Given the description of an element on the screen output the (x, y) to click on. 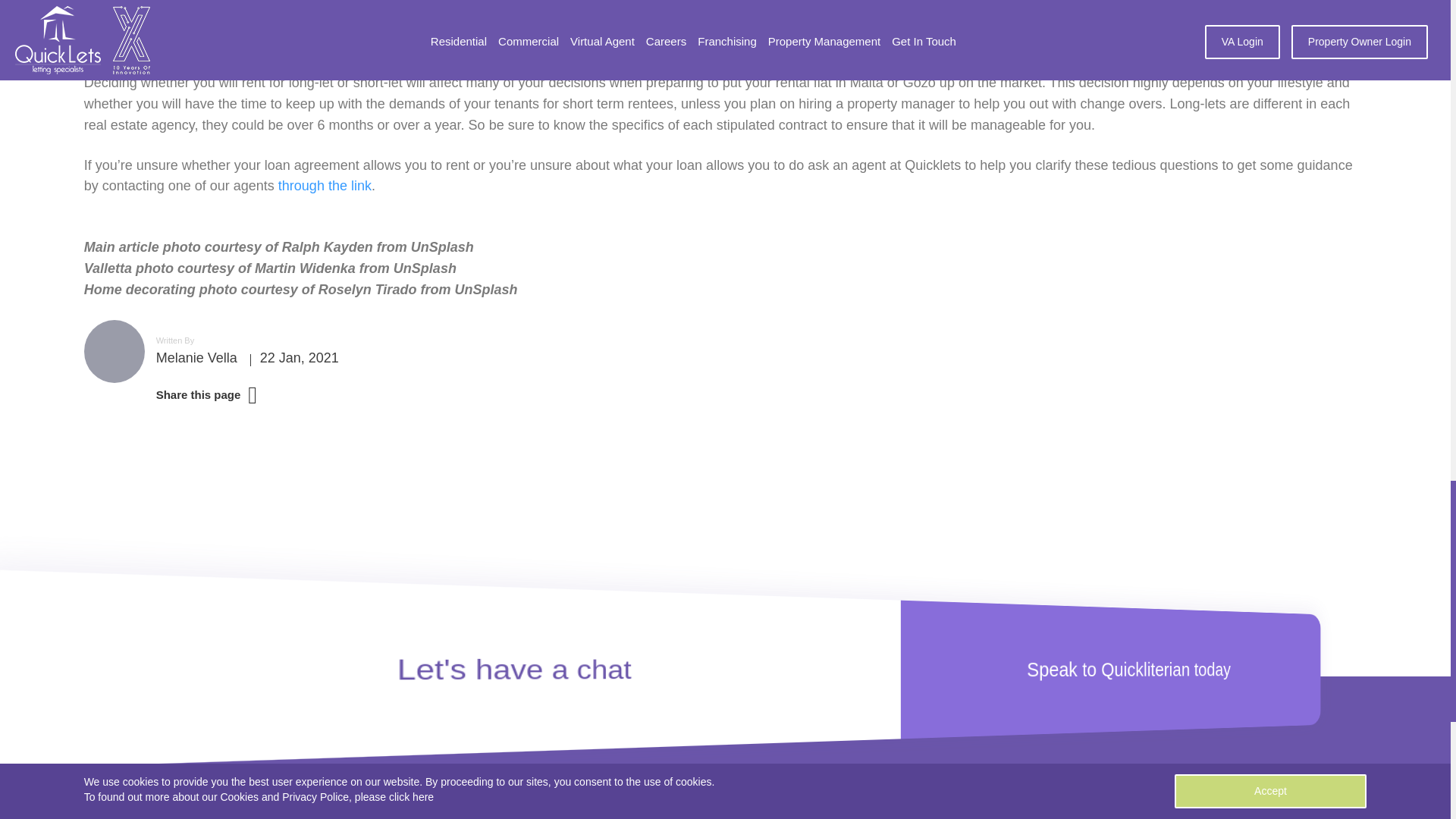
Melanie Vella (324, 185)
